Given the description of an element on the screen output the (x, y) to click on. 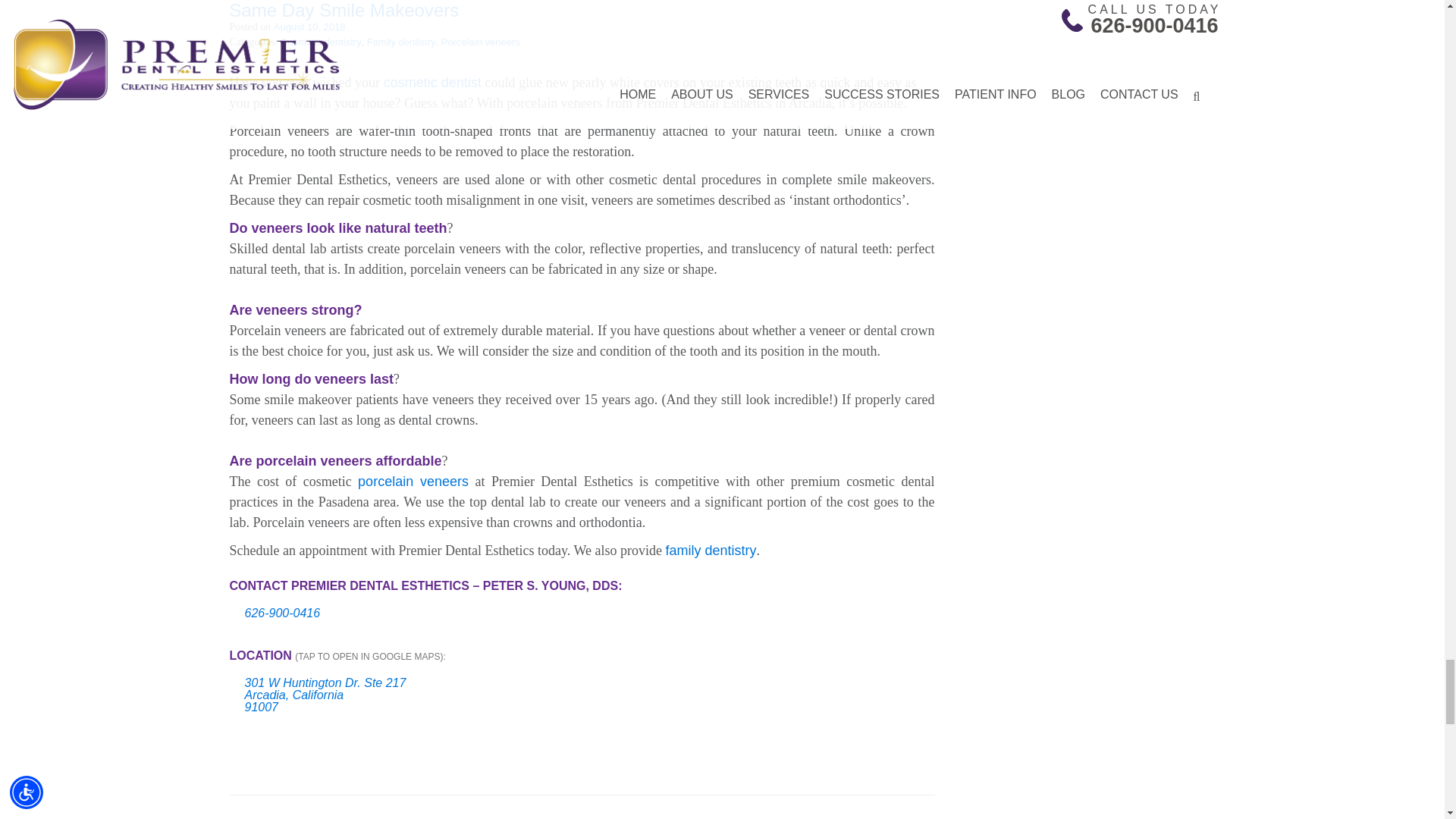
Arcadia fast smile makeovers (432, 82)
